Given the description of an element on the screen output the (x, y) to click on. 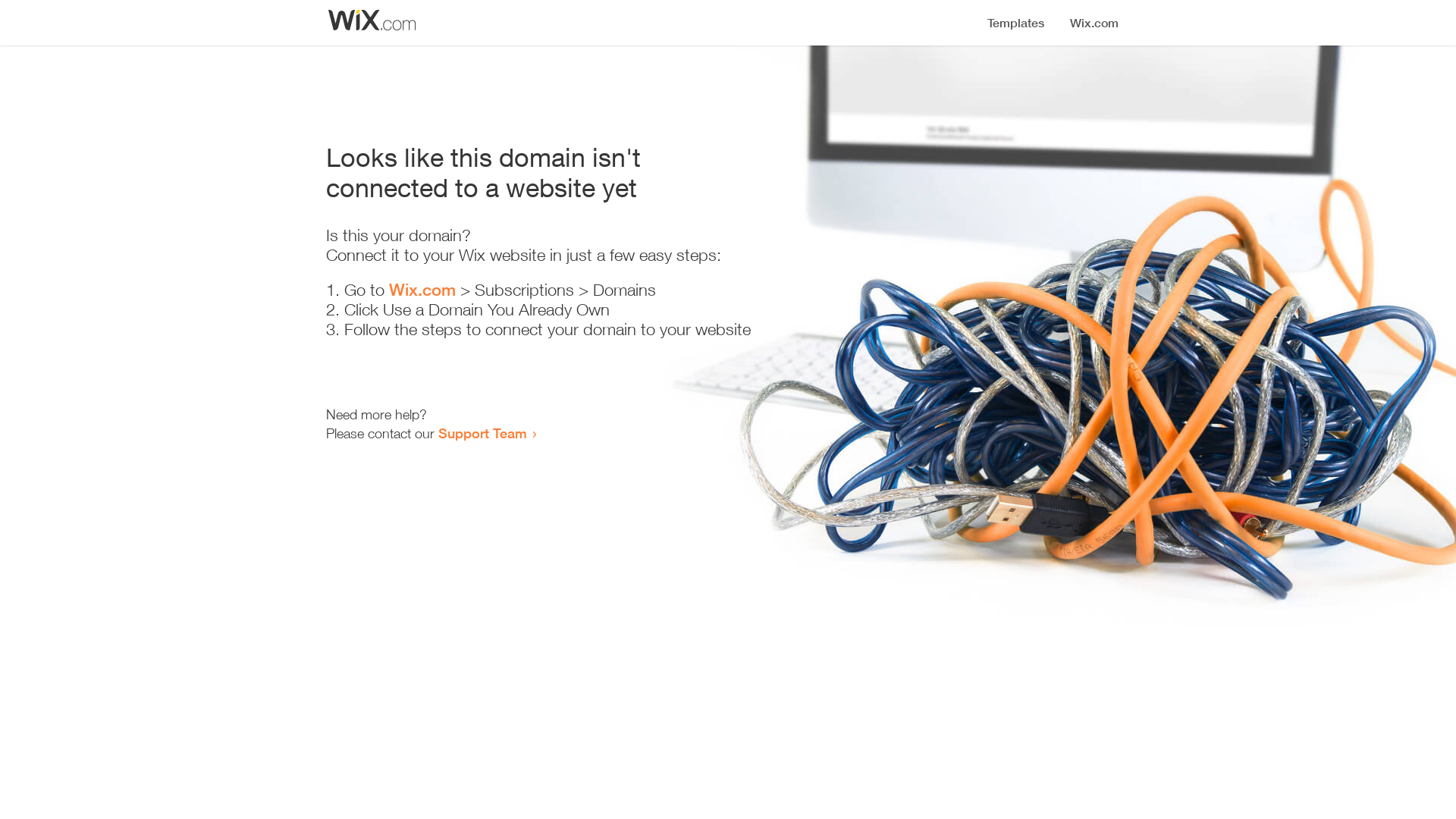
Wix.com Element type: text (422, 289)
Support Team Element type: text (482, 432)
